Given the description of an element on the screen output the (x, y) to click on. 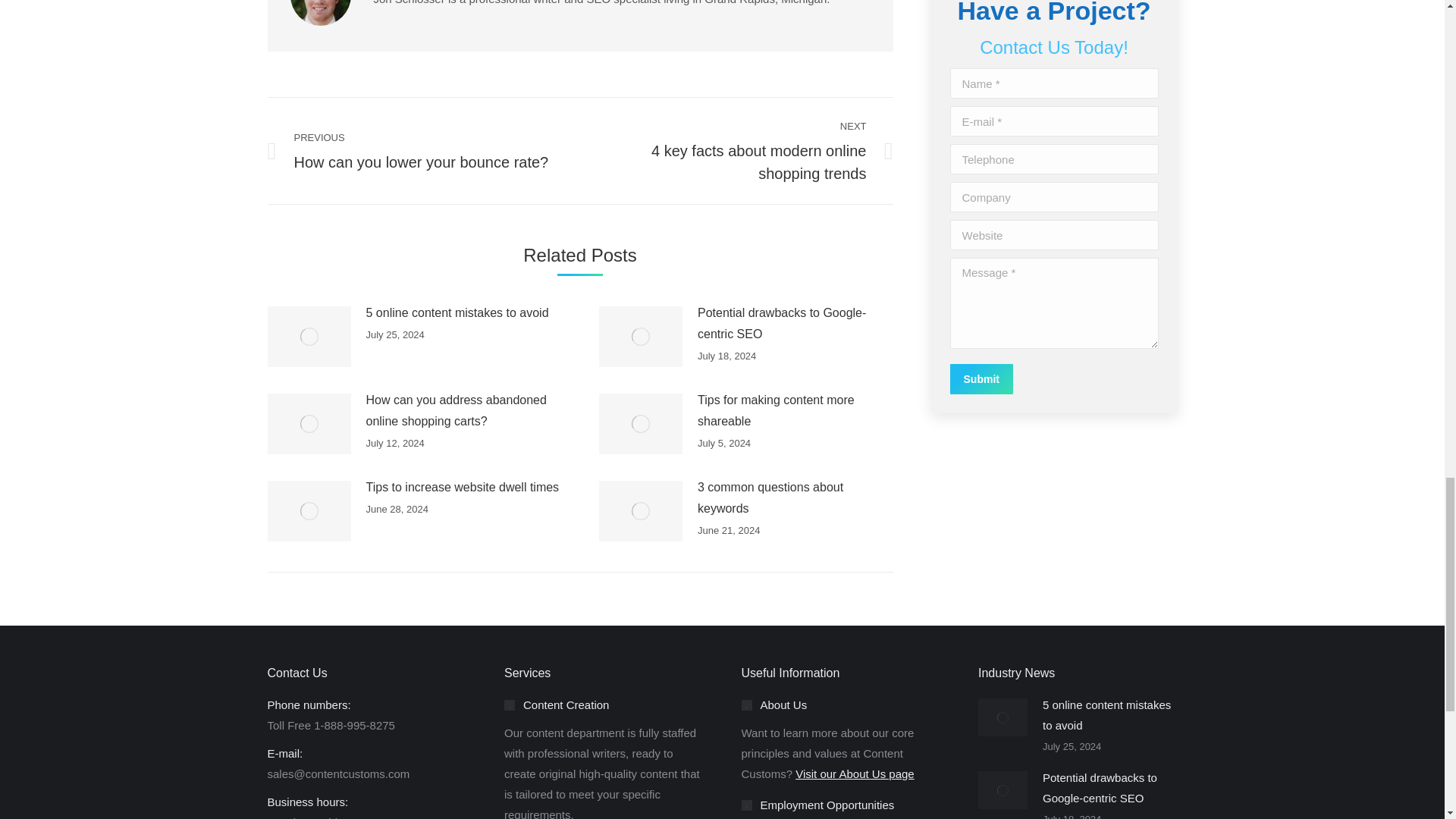
submit (1053, 380)
